Given the description of an element on the screen output the (x, y) to click on. 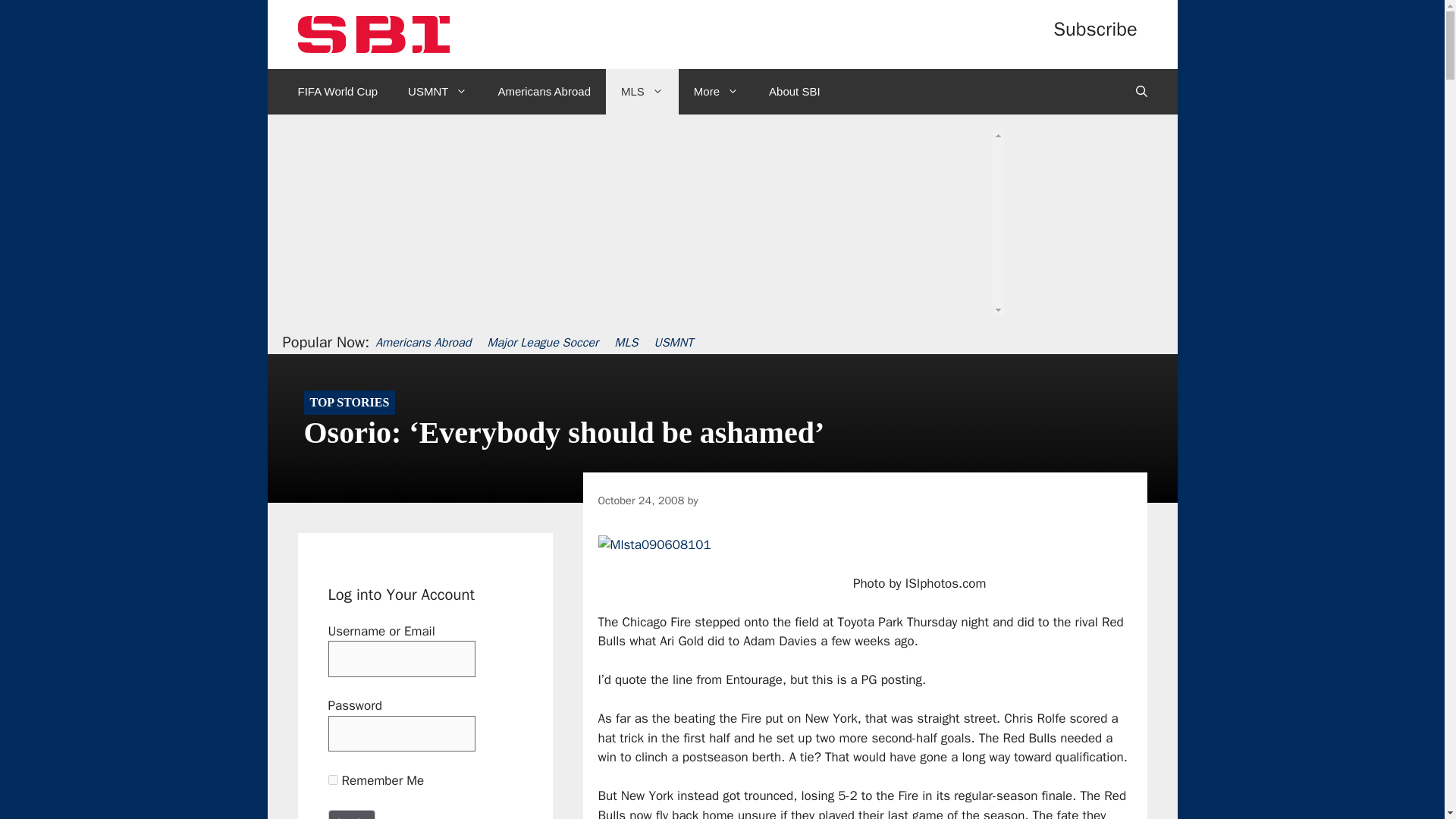
forever (332, 779)
FIFA World Cup (337, 91)
Mlsta090608101 (653, 545)
Advertisement (716, 256)
MLS (641, 91)
Log In (351, 814)
Americans Abroad (543, 91)
USMNT (437, 91)
Subscribe (1094, 28)
